Given the description of an element on the screen output the (x, y) to click on. 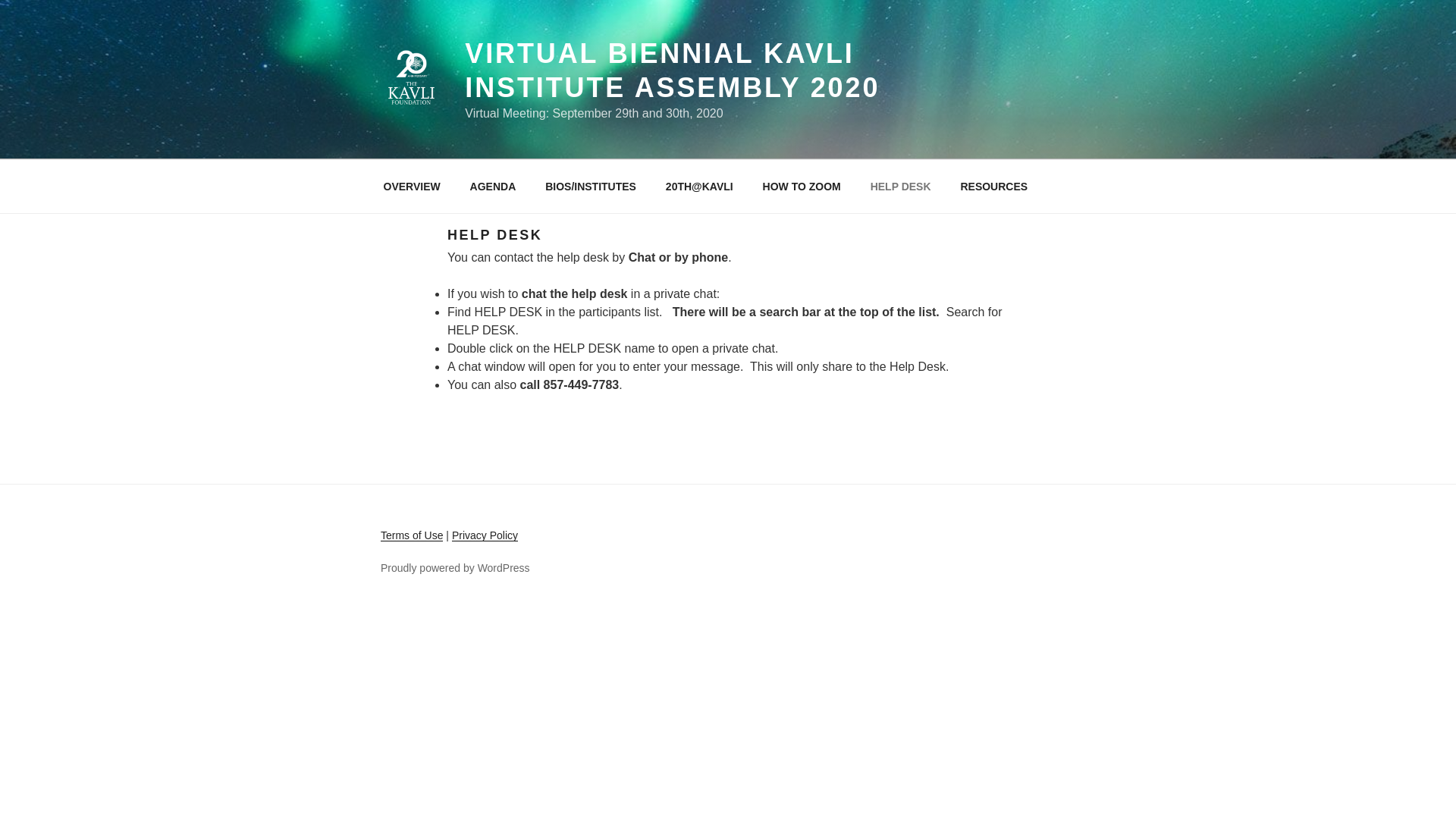
RESOURCES (994, 186)
Proudly powered by WordPress (454, 567)
VIRTUAL BIENNIAL KAVLI INSTITUTE ASSEMBLY 2020 (671, 70)
AGENDA (493, 186)
Terms of Use (411, 535)
OVERVIEW (410, 186)
HOW TO ZOOM (801, 186)
Privacy Policy (484, 535)
HELP DESK (900, 186)
